Given the description of an element on the screen output the (x, y) to click on. 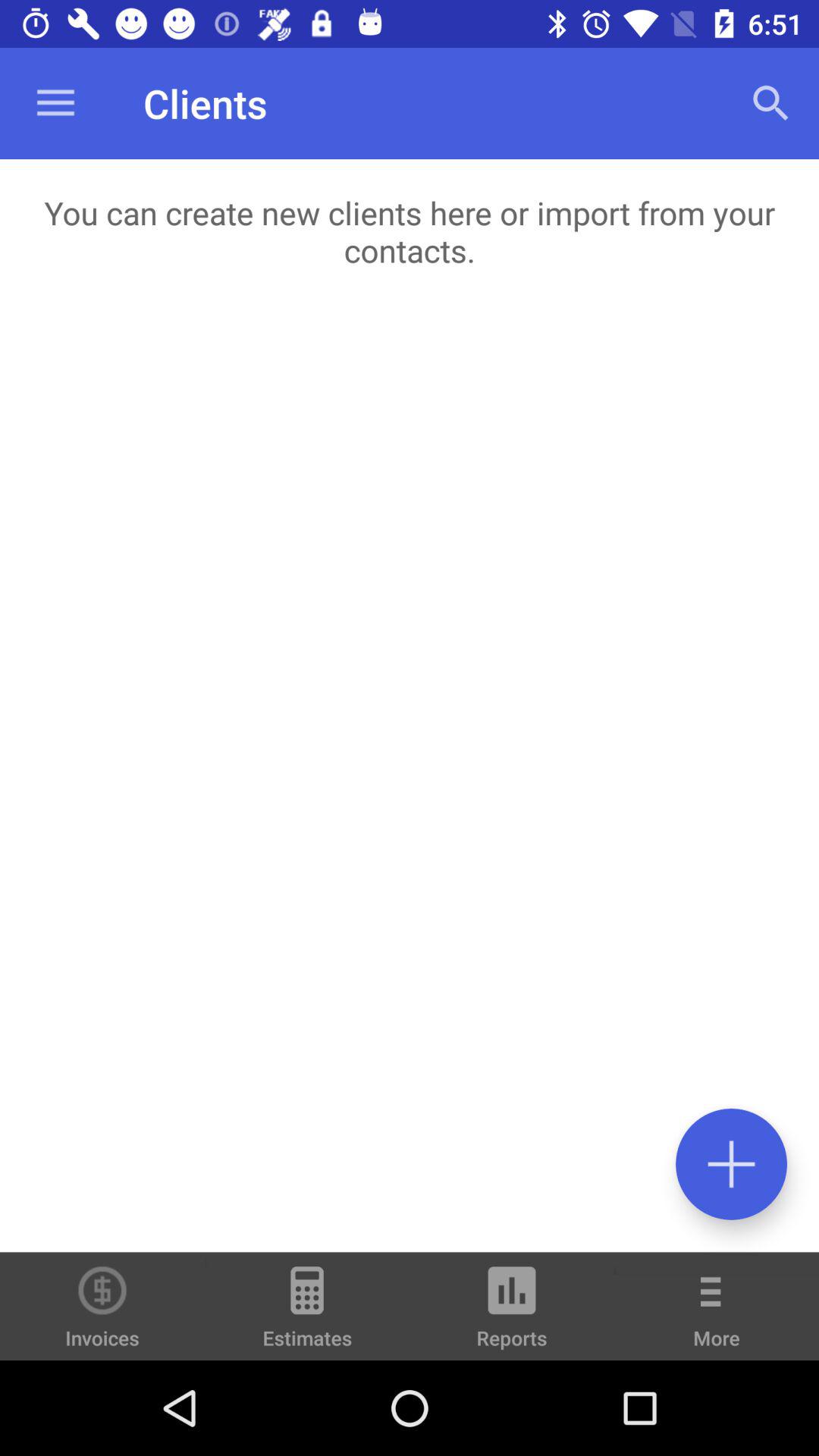
turn on the icon to the left of estimates (102, 1306)
